Given the description of an element on the screen output the (x, y) to click on. 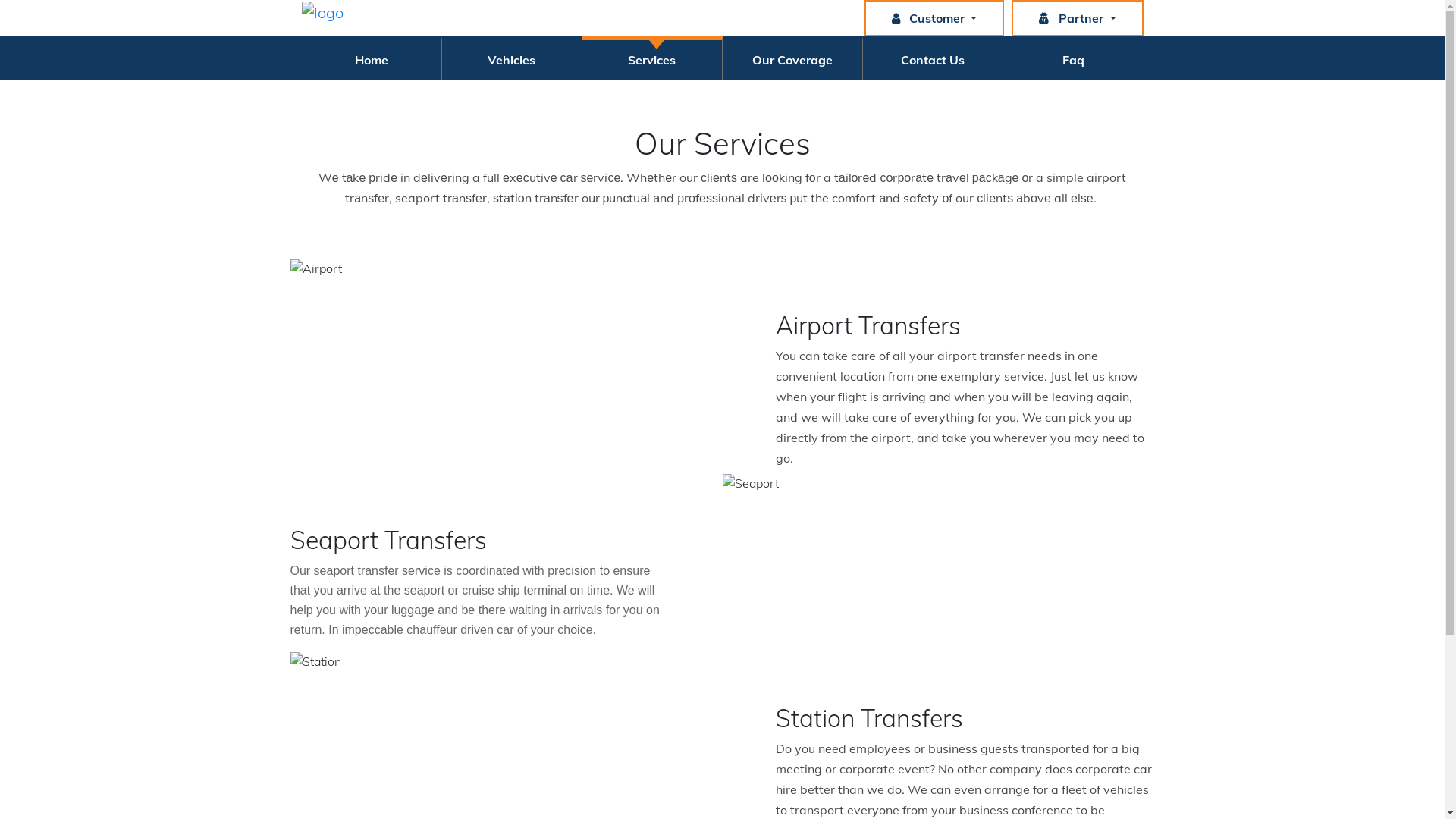
Services Element type: text (651, 59)
Faq Element type: text (1072, 59)
Contact Us Element type: text (932, 59)
Our Coverage Element type: text (792, 59)
Vehicles Element type: text (511, 59)
Home Element type: text (371, 59)
  Partner Element type: text (1076, 18)
  Customer Element type: text (934, 18)
